Given the description of an element on the screen output the (x, y) to click on. 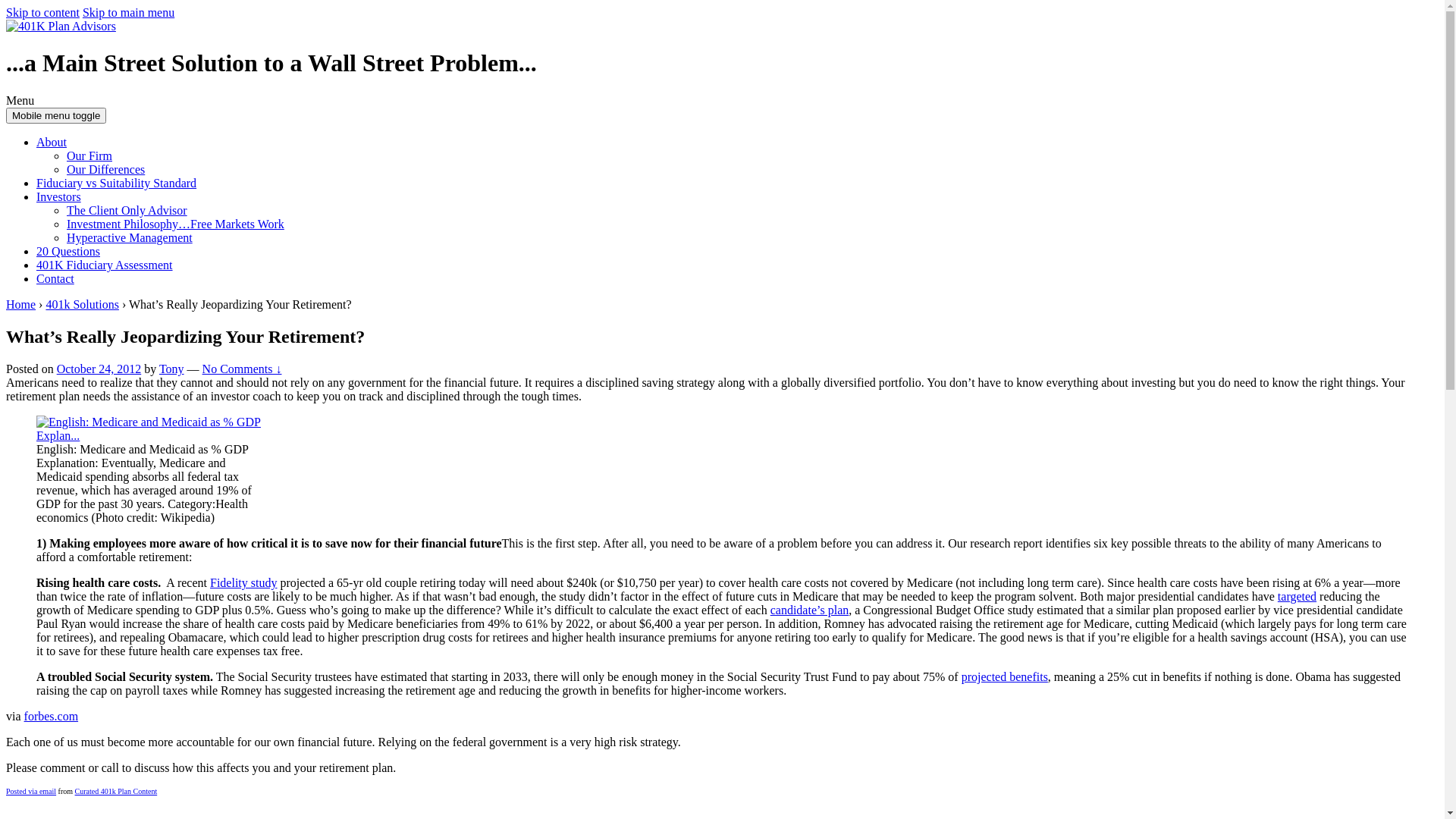
projected benefits Element type: text (1004, 676)
Our Firm Element type: text (89, 155)
forbes.com Element type: text (51, 715)
Hyperactive Management Element type: text (129, 237)
Skip to main menu Element type: text (128, 12)
Fiduciary vs Suitability Standard Element type: text (116, 182)
targeted Element type: text (1296, 595)
Our Differences Element type: text (105, 169)
Mobile menu toggle Element type: text (56, 115)
Posted via email Element type: text (31, 791)
20 Questions Element type: text (68, 250)
401k Solutions Element type: text (81, 304)
401K Fiduciary Assessment Element type: text (104, 264)
The Client Only Advisor Element type: text (126, 209)
Contact Element type: text (55, 278)
Skip to content Element type: text (42, 12)
About Element type: text (51, 141)
English: Medicare and Medicaid as % GDP Explan... Element type: hover (149, 428)
Home Element type: text (20, 304)
Fidelity study Element type: text (243, 582)
Tony Element type: text (171, 368)
Curated 401k Plan Content Element type: text (116, 791)
October 24, 2012 Element type: text (98, 368)
Investors Element type: text (58, 196)
